Given the description of an element on the screen output the (x, y) to click on. 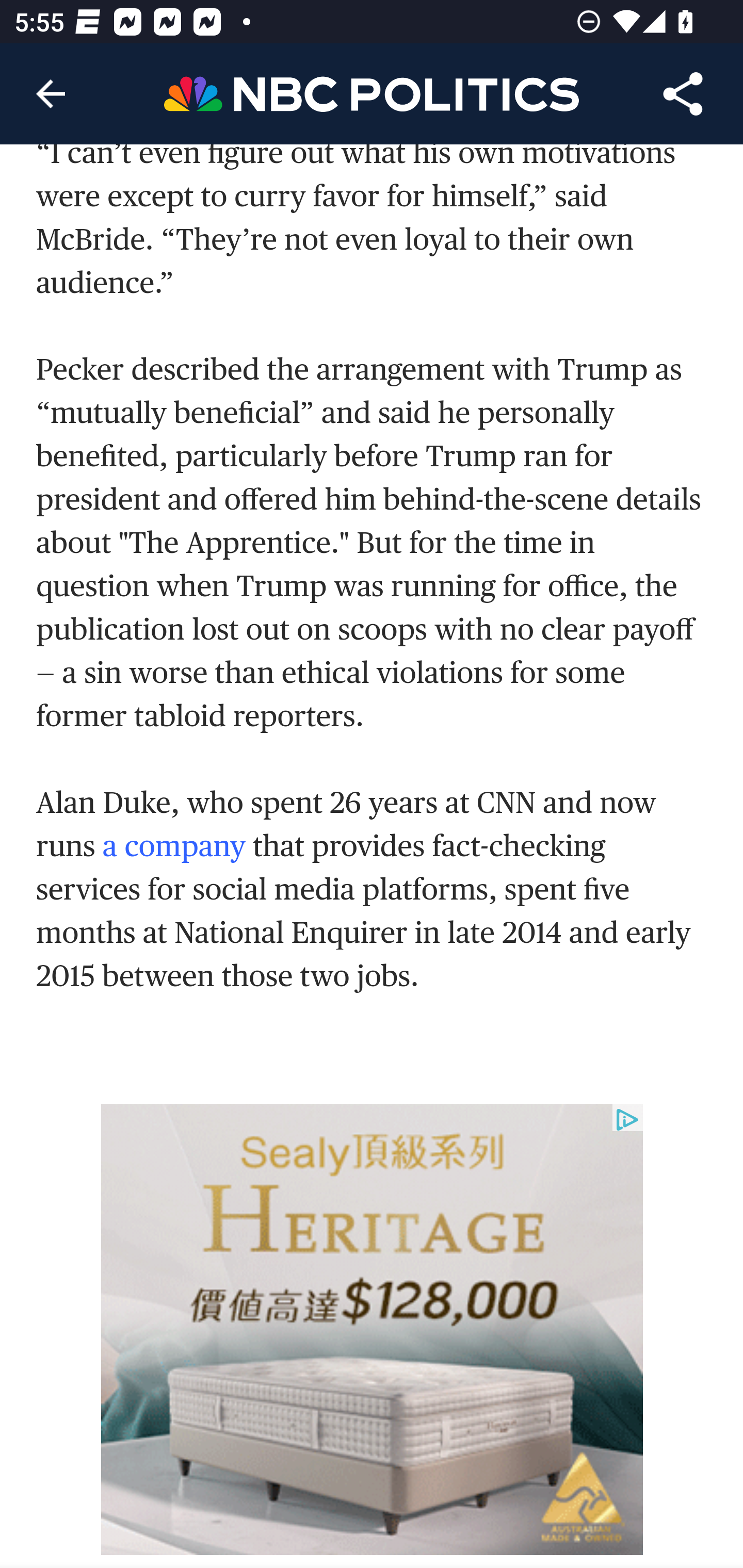
Navigate up (50, 93)
Share Article, button (683, 94)
Header, NBC Politics (371, 93)
a company (173, 847)
icgBeteWSZFMbKXZTb0bmADIM%23300x500 (372, 1331)
adchoices (626, 1121)
